Given the description of an element on the screen output the (x, y) to click on. 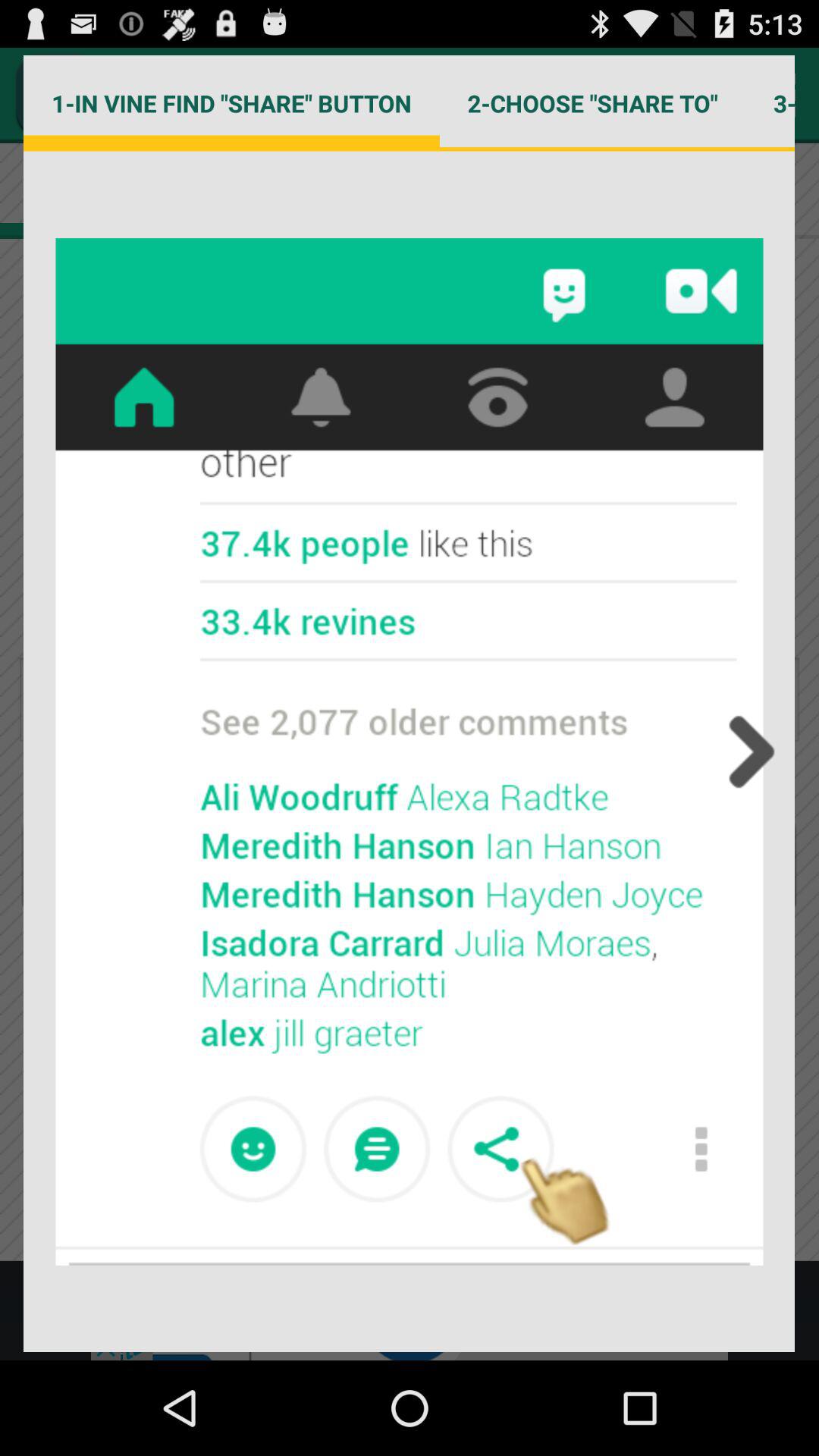
flip to 2 choose share item (592, 103)
